Given the description of an element on the screen output the (x, y) to click on. 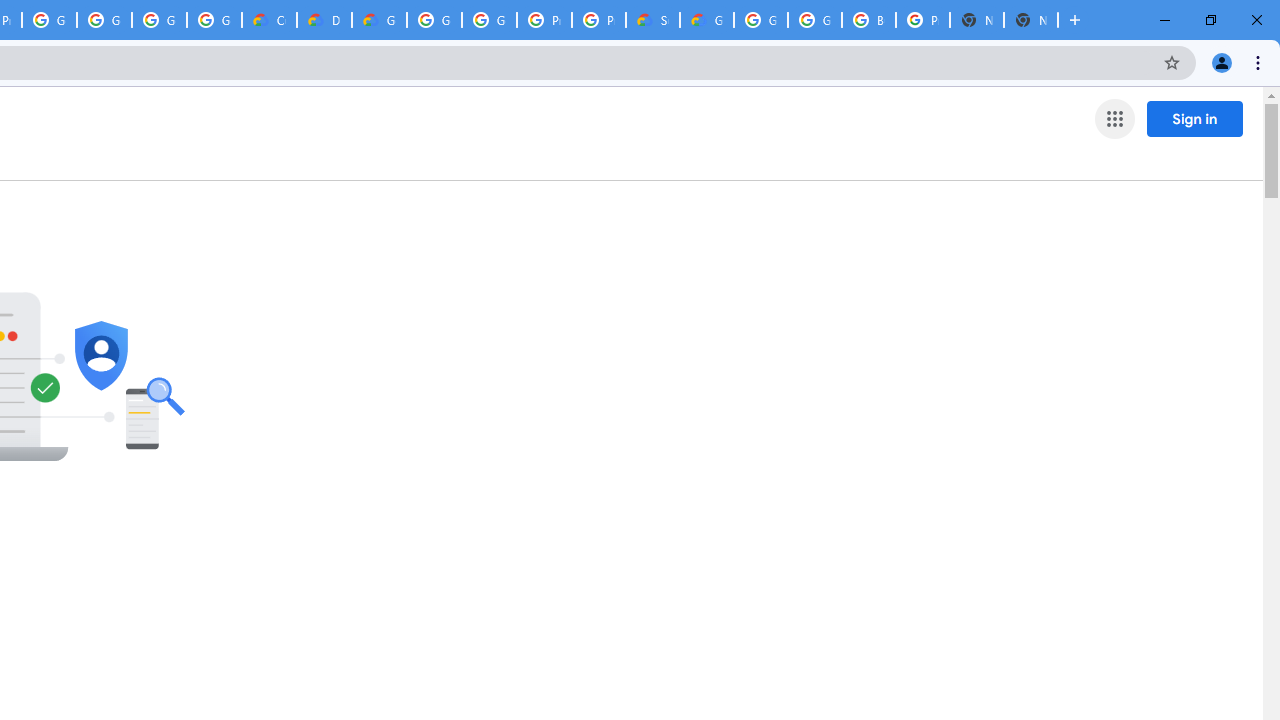
New Tab (1030, 20)
Google Cloud Platform (489, 20)
Gemini for Business and Developers | Google Cloud (379, 20)
Google Cloud Service Health (706, 20)
Google Cloud Platform (815, 20)
